Given the description of an element on the screen output the (x, y) to click on. 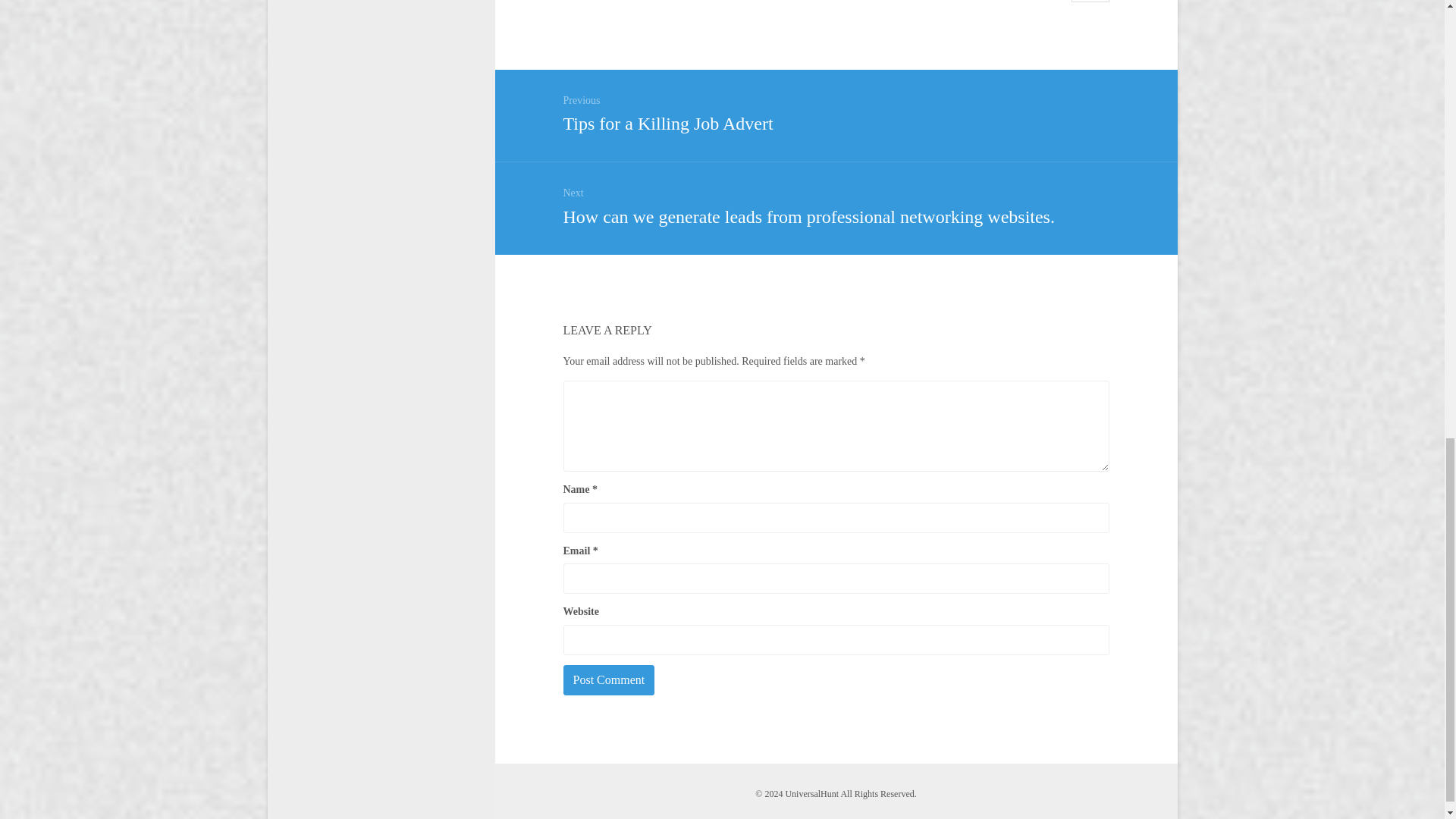
Post Comment (607, 680)
Post Comment (835, 111)
